Given the description of an element on the screen output the (x, y) to click on. 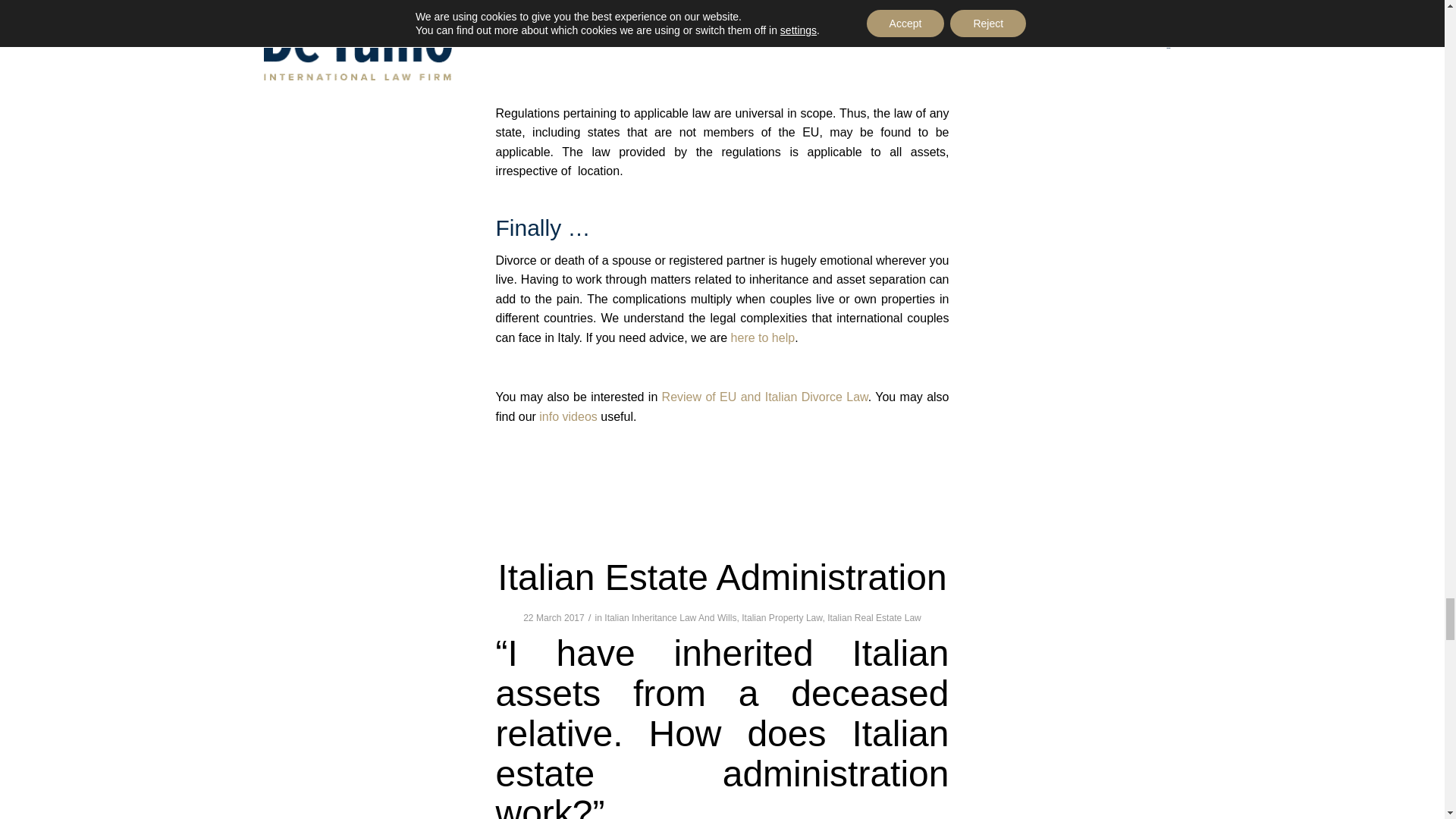
Permanent Link: Italian Estate Administration (721, 577)
